Given the description of an element on the screen output the (x, y) to click on. 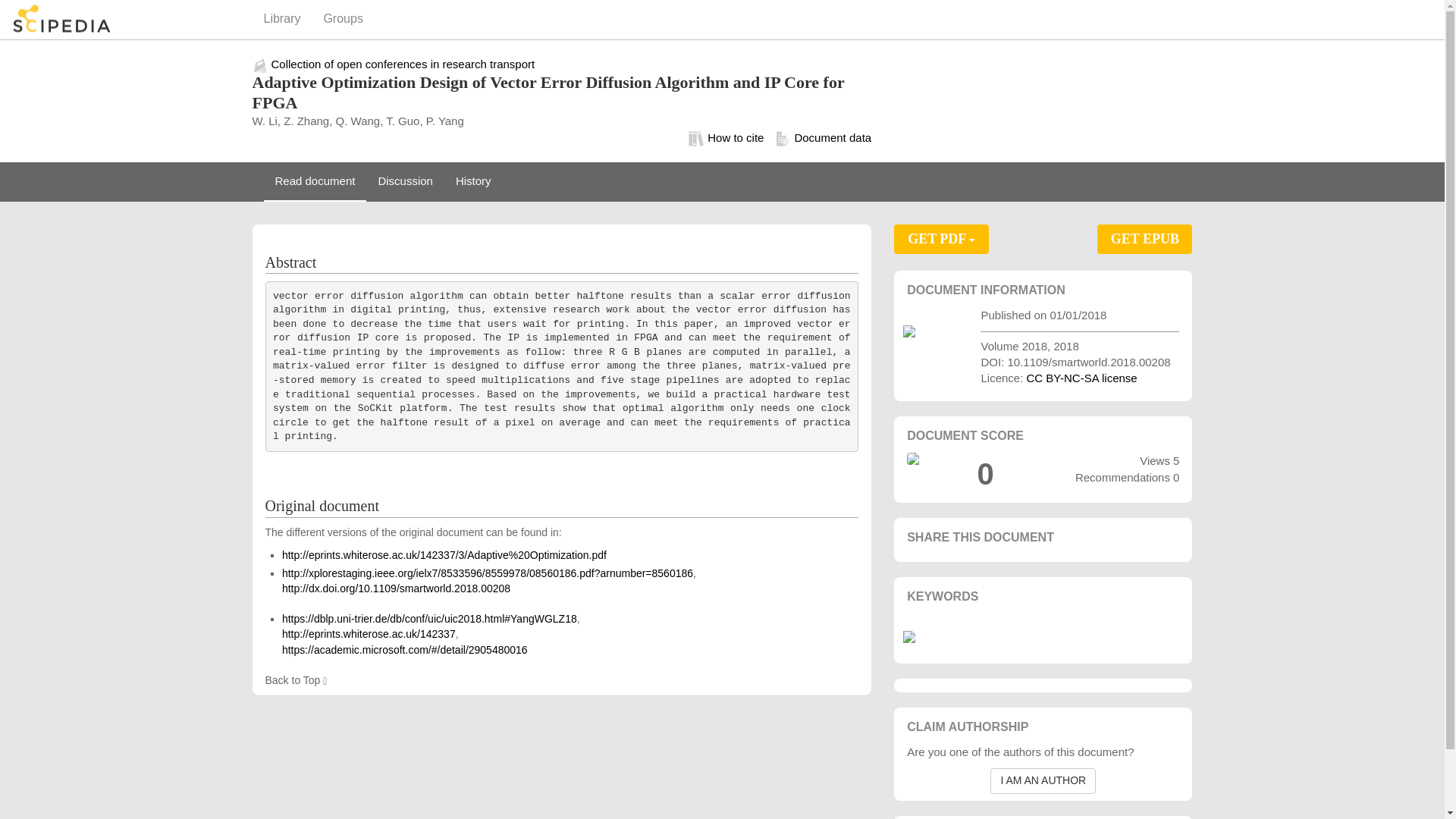
History (473, 181)
GET PDF (940, 239)
How to cite (725, 137)
Discussion (405, 181)
Library (281, 19)
Read document (314, 181)
GET EPUB (1144, 239)
I AM AN AUTHOR (1043, 780)
Collection of open conferences in research transport (402, 63)
Document data (816, 137)
